Given the description of an element on the screen output the (x, y) to click on. 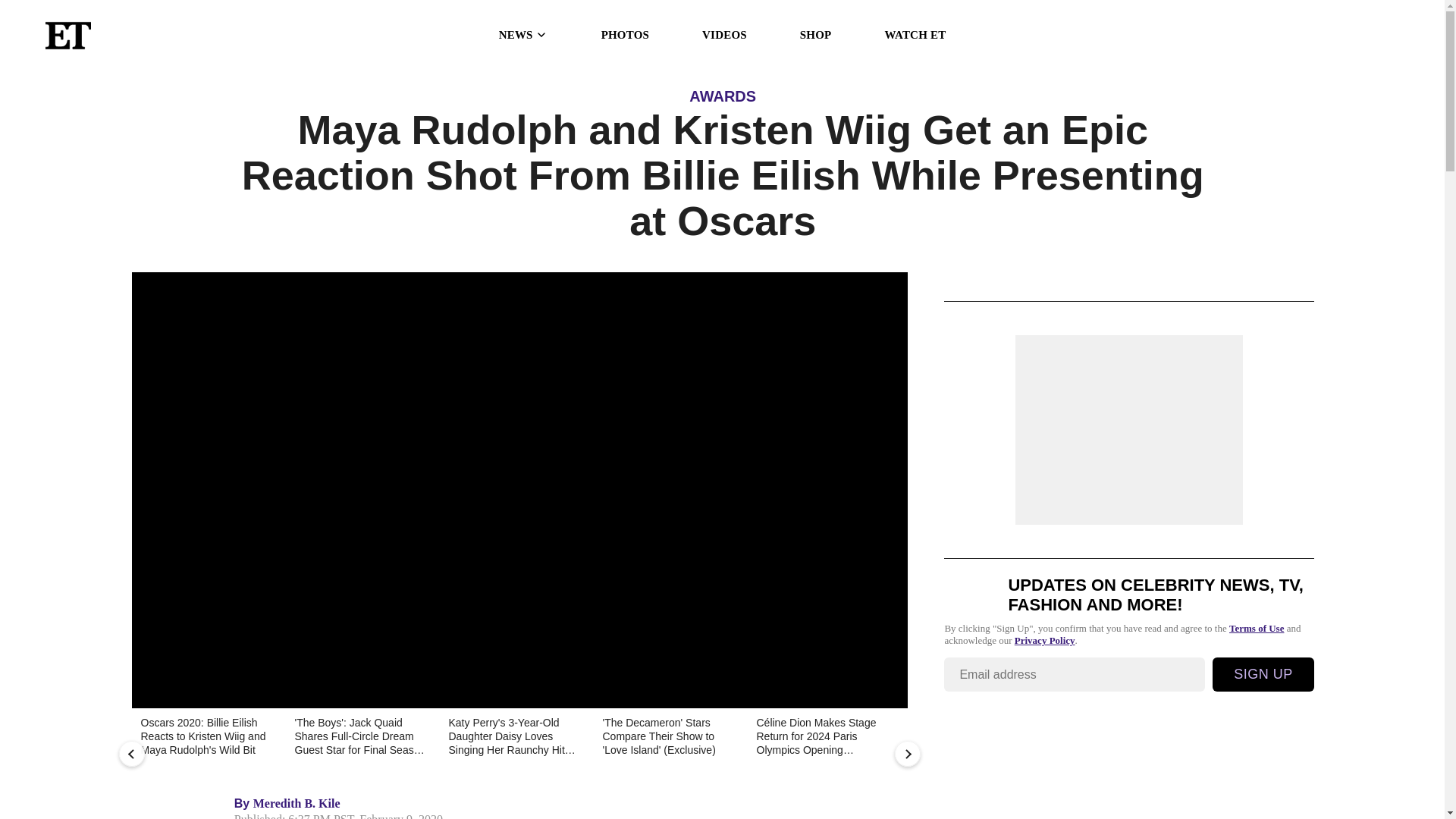
NEWS (523, 34)
WATCH ET (913, 34)
PHOTOS (625, 34)
SHOP (815, 34)
VIDEOS (723, 34)
AWARDS (721, 95)
